Given the description of an element on the screen output the (x, y) to click on. 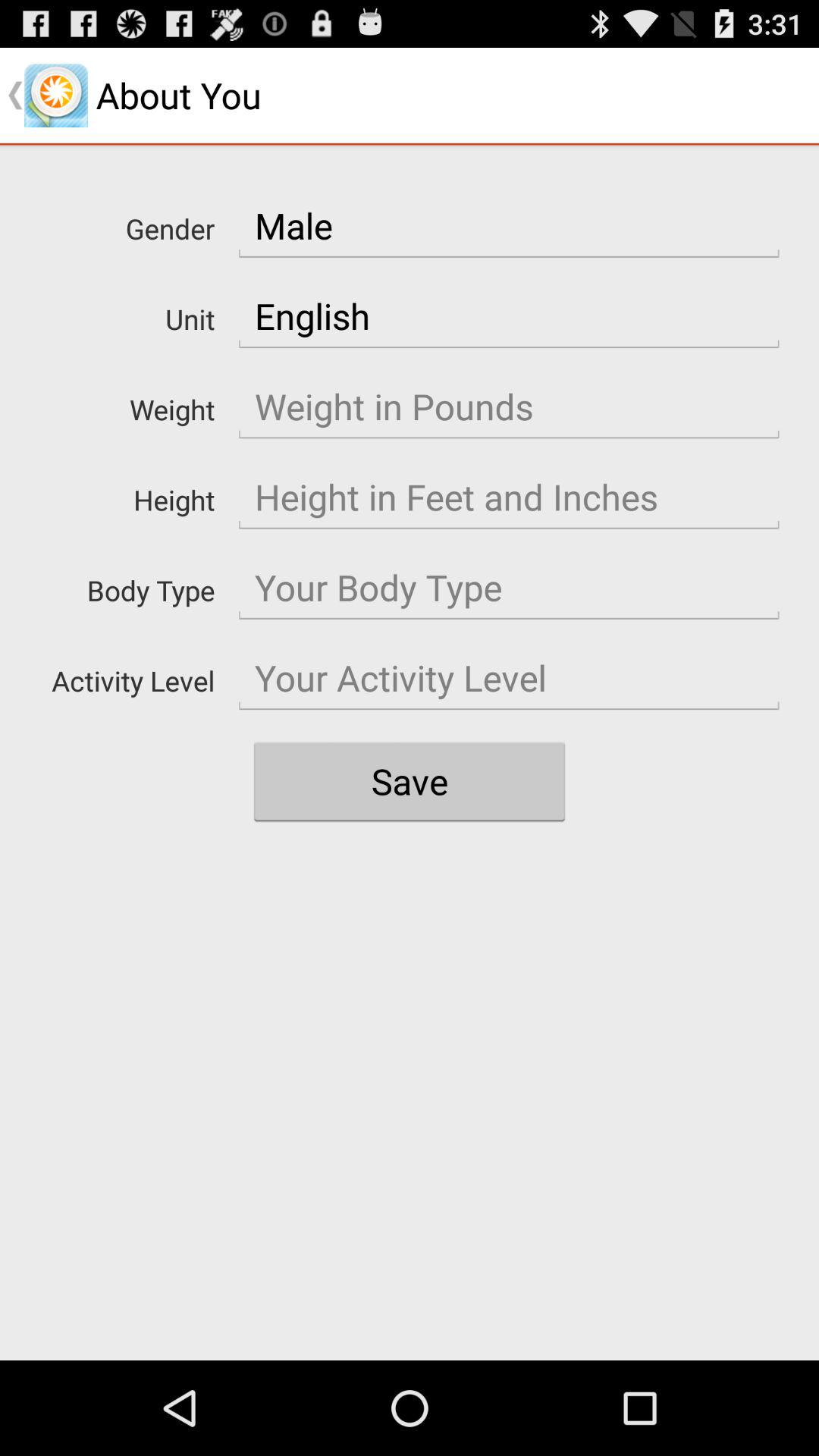
enter your activity level (508, 678)
